Given the description of an element on the screen output the (x, y) to click on. 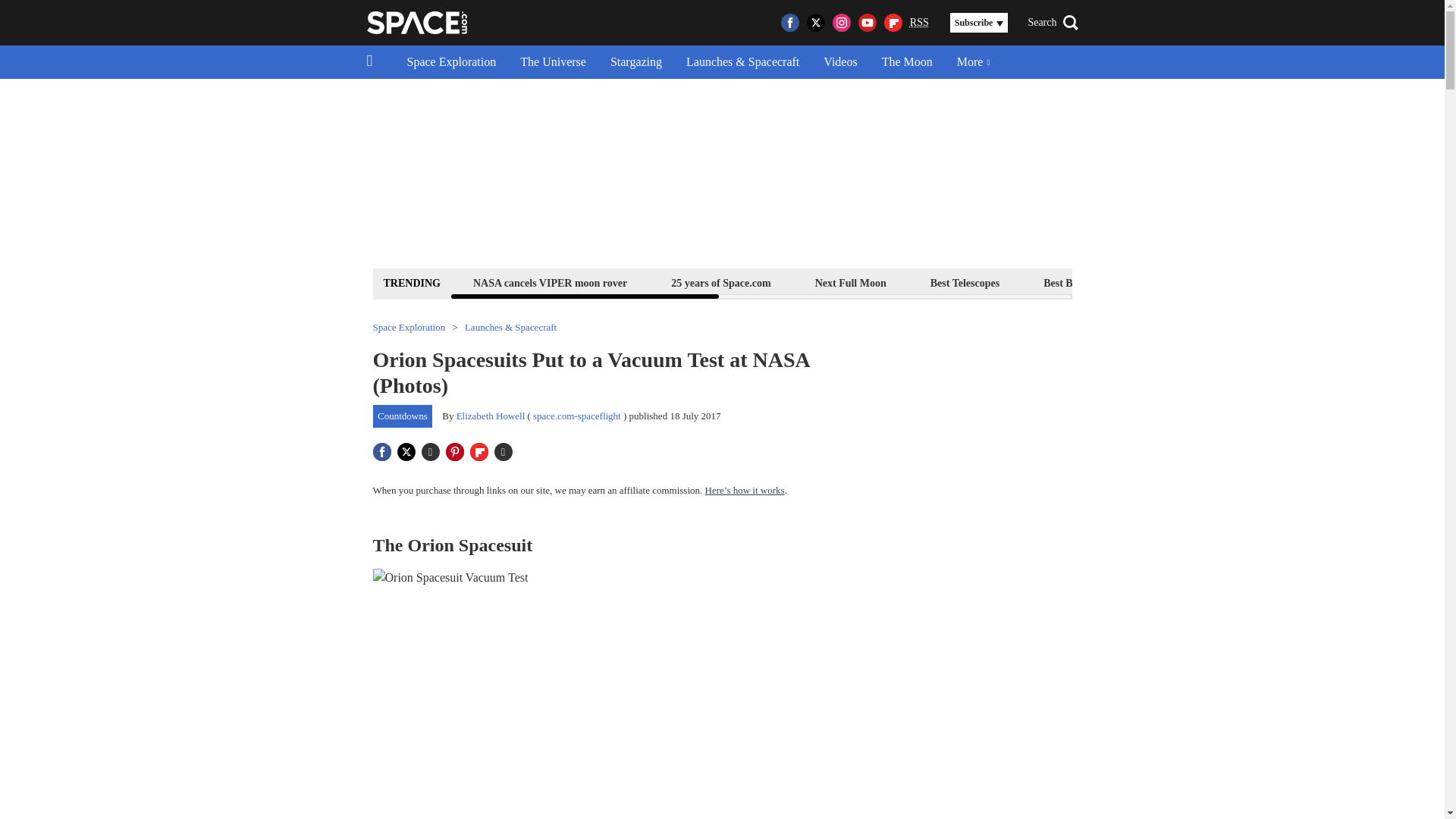
Stargazing (636, 61)
The Moon (906, 61)
Best Star Projectors (1204, 282)
RSS (919, 22)
Next Full Moon (850, 282)
Space Calendar (1329, 282)
Best Binoculars (1078, 282)
NASA cancels VIPER moon rover (549, 282)
The Universe (553, 61)
Really Simple Syndication (919, 21)
Space Exploration (451, 61)
Videos (839, 61)
25 years of Space.com (720, 282)
Best Telescopes (964, 282)
